Given the description of an element on the screen output the (x, y) to click on. 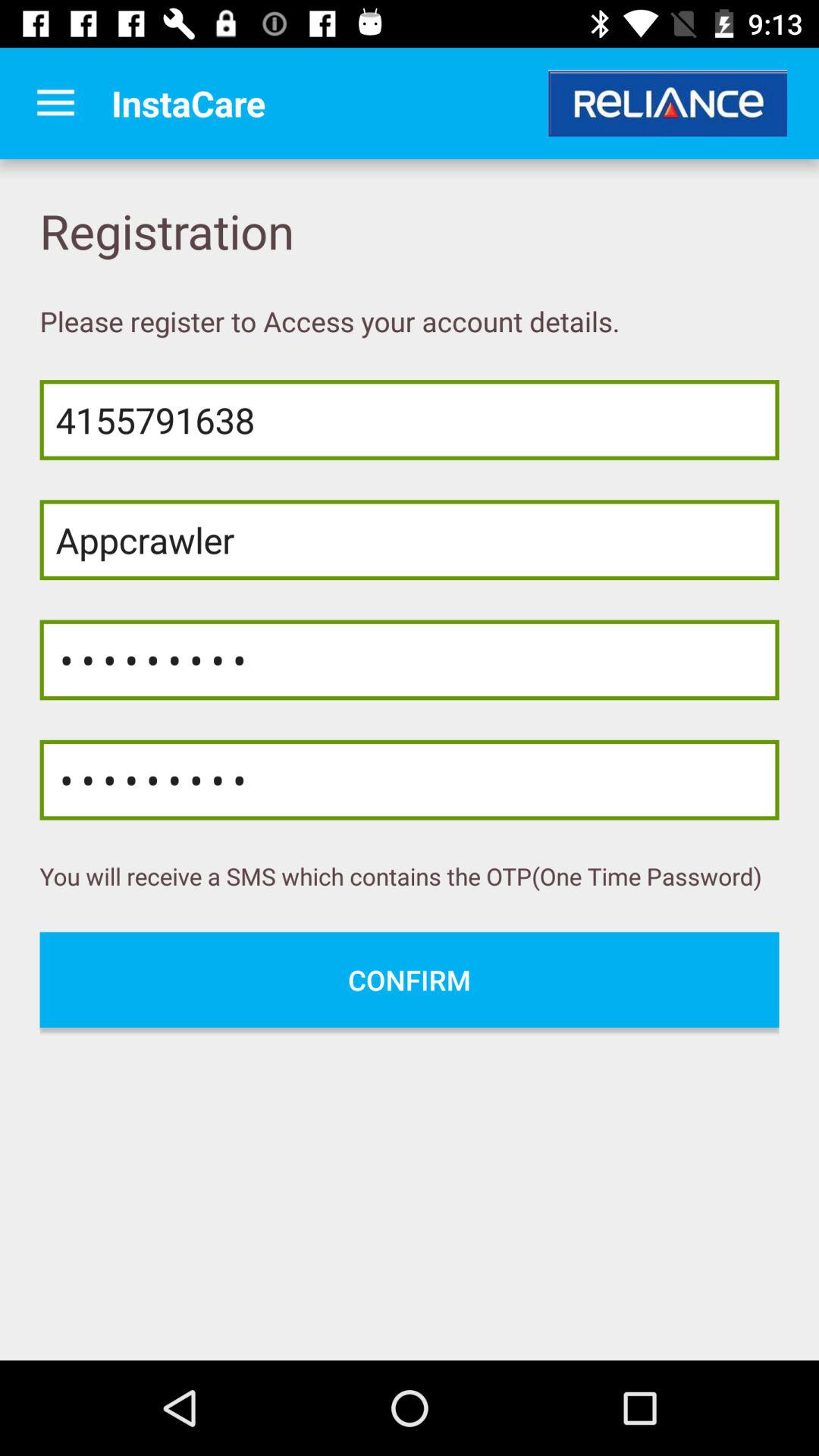
turn on appcrawler item (409, 539)
